Given the description of an element on the screen output the (x, y) to click on. 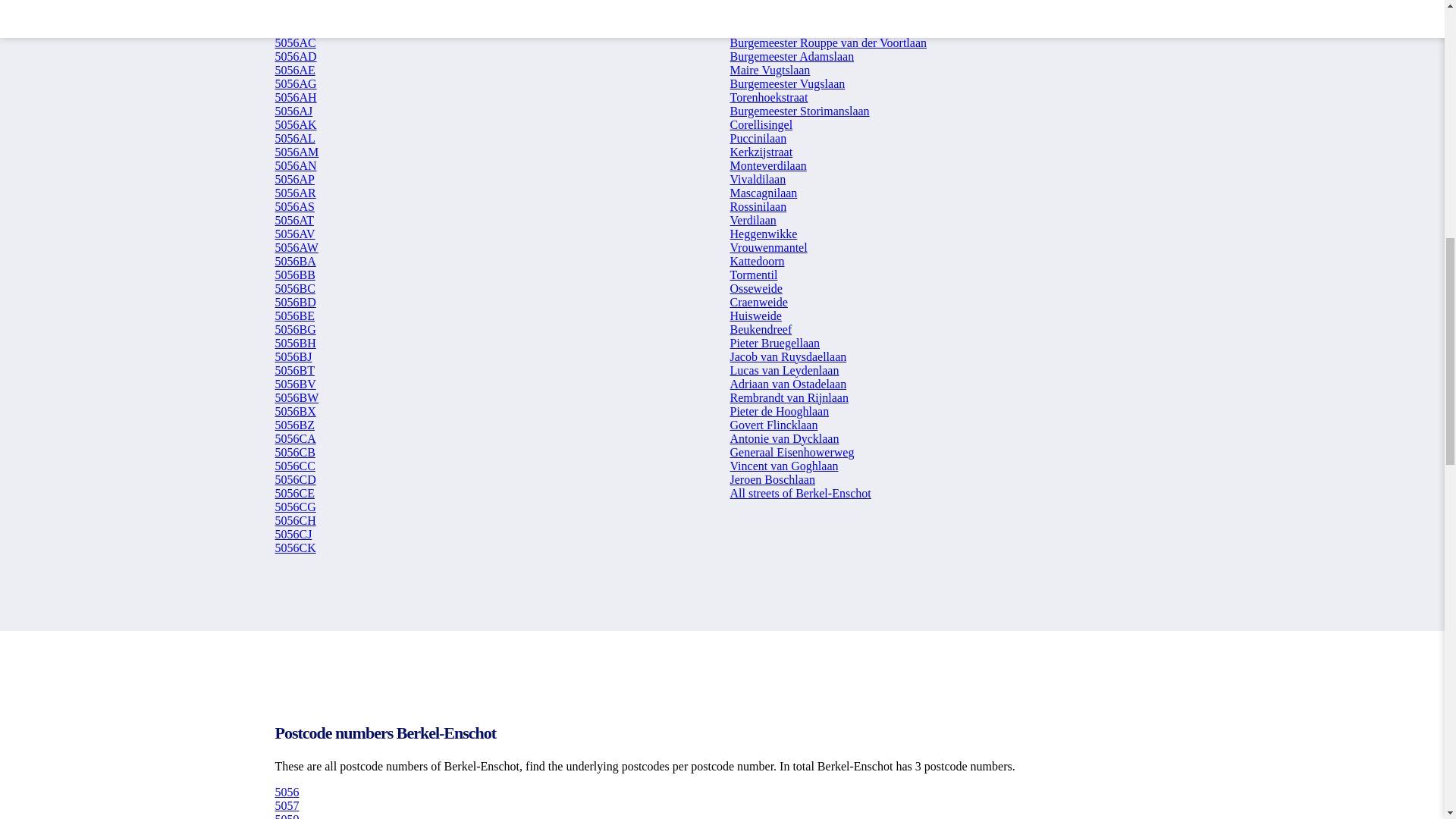
5056AD (295, 56)
5056AC (295, 29)
5056AC (295, 42)
5056BA (295, 260)
5056AP (294, 178)
5056AV (294, 233)
5056AE (294, 69)
5056AT (294, 219)
5056AR (295, 192)
5056AL (294, 137)
5056AB (295, 15)
5056AK (295, 124)
5056BC (294, 287)
5056AH (295, 97)
5056AG (295, 83)
